Given the description of an element on the screen output the (x, y) to click on. 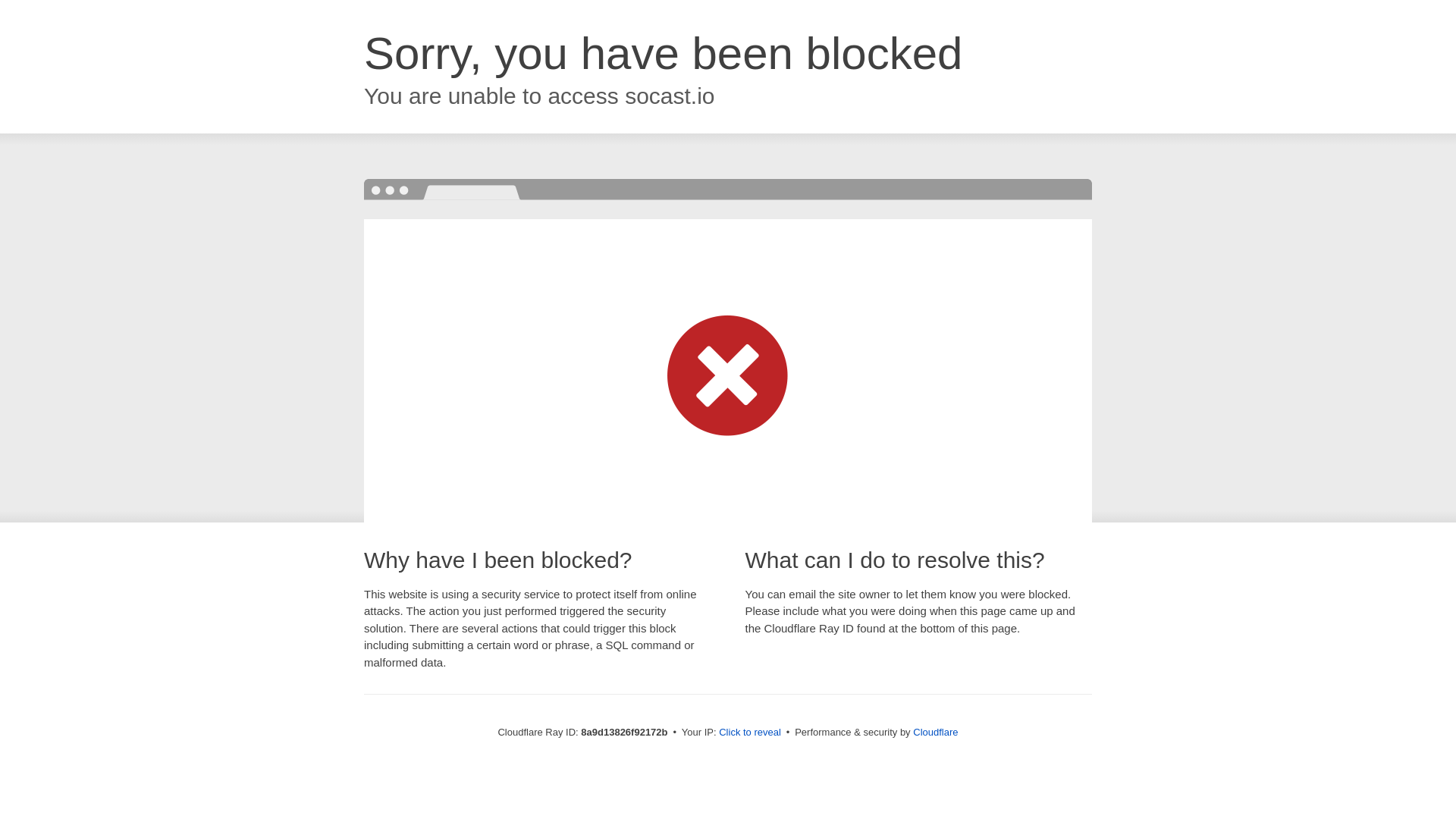
Click to reveal (749, 732)
Cloudflare (935, 731)
